Given the description of an element on the screen output the (x, y) to click on. 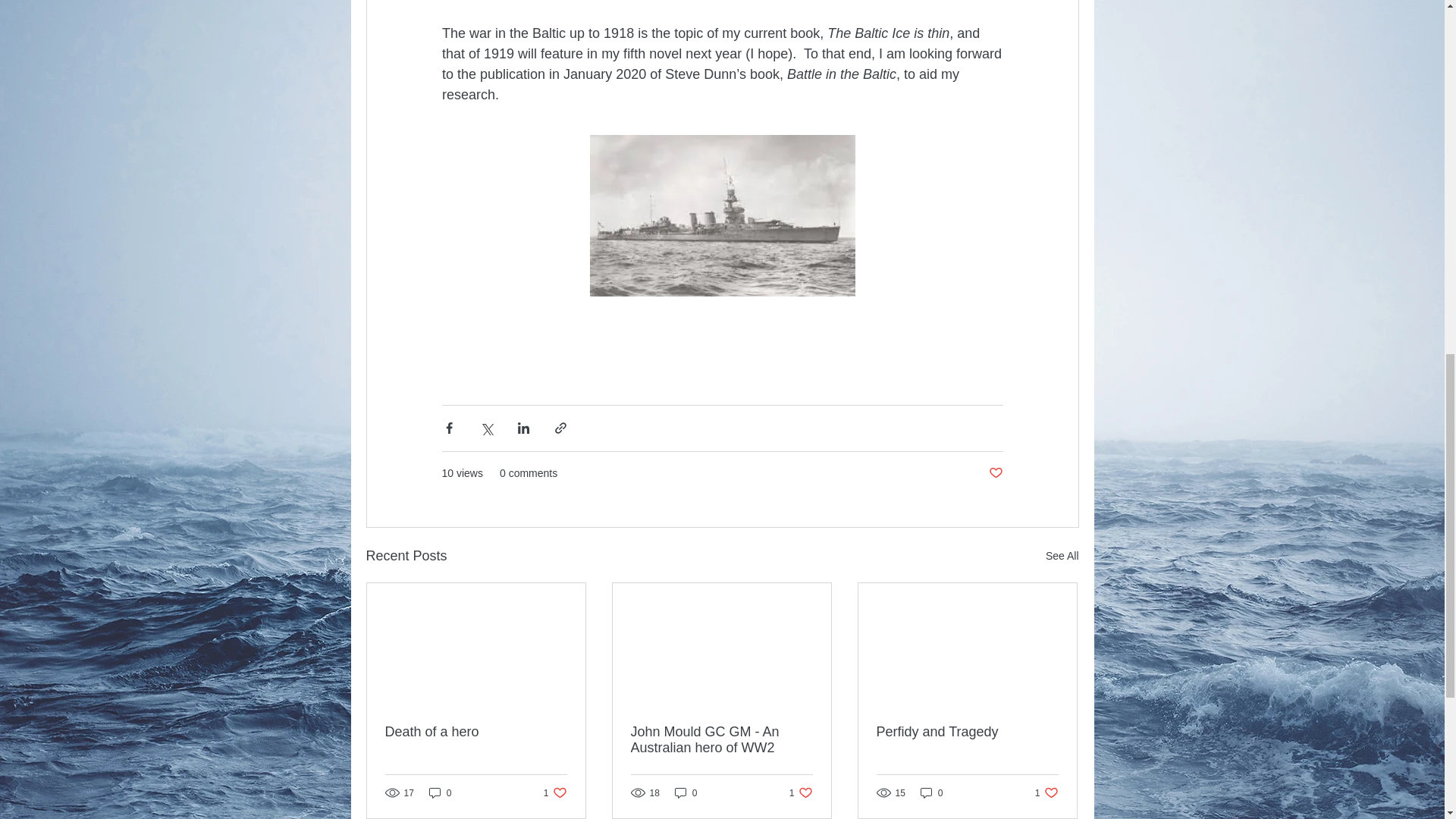
0 (931, 792)
0 (440, 792)
Post not marked as liked (995, 473)
See All (1061, 556)
Death of a hero (555, 792)
John Mould GC GM - An Australian hero of WW2 (476, 731)
0 (721, 739)
Perfidy and Tragedy (800, 792)
